Given the description of an element on the screen output the (x, y) to click on. 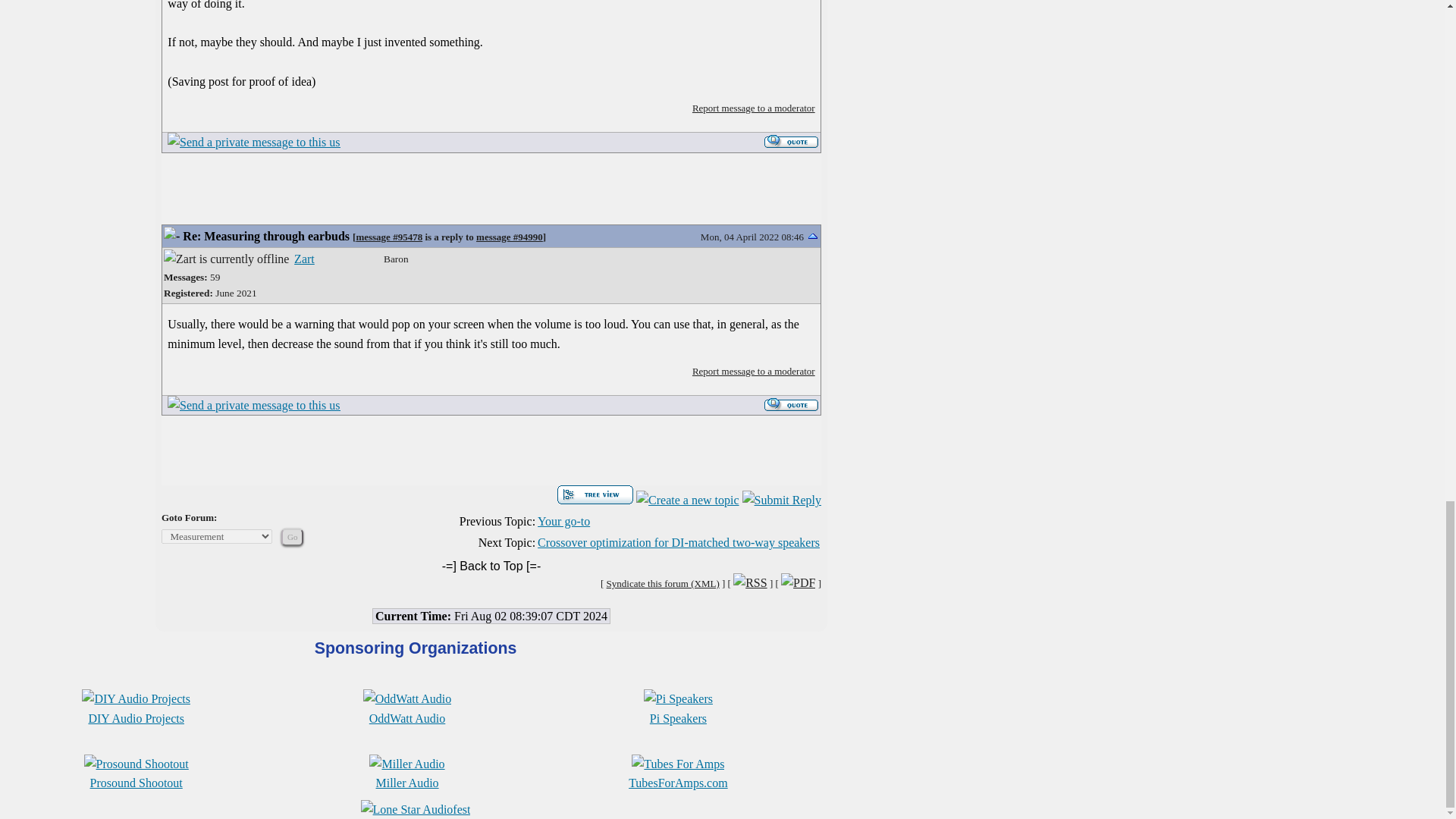
Go (291, 537)
